Given the description of an element on the screen output the (x, y) to click on. 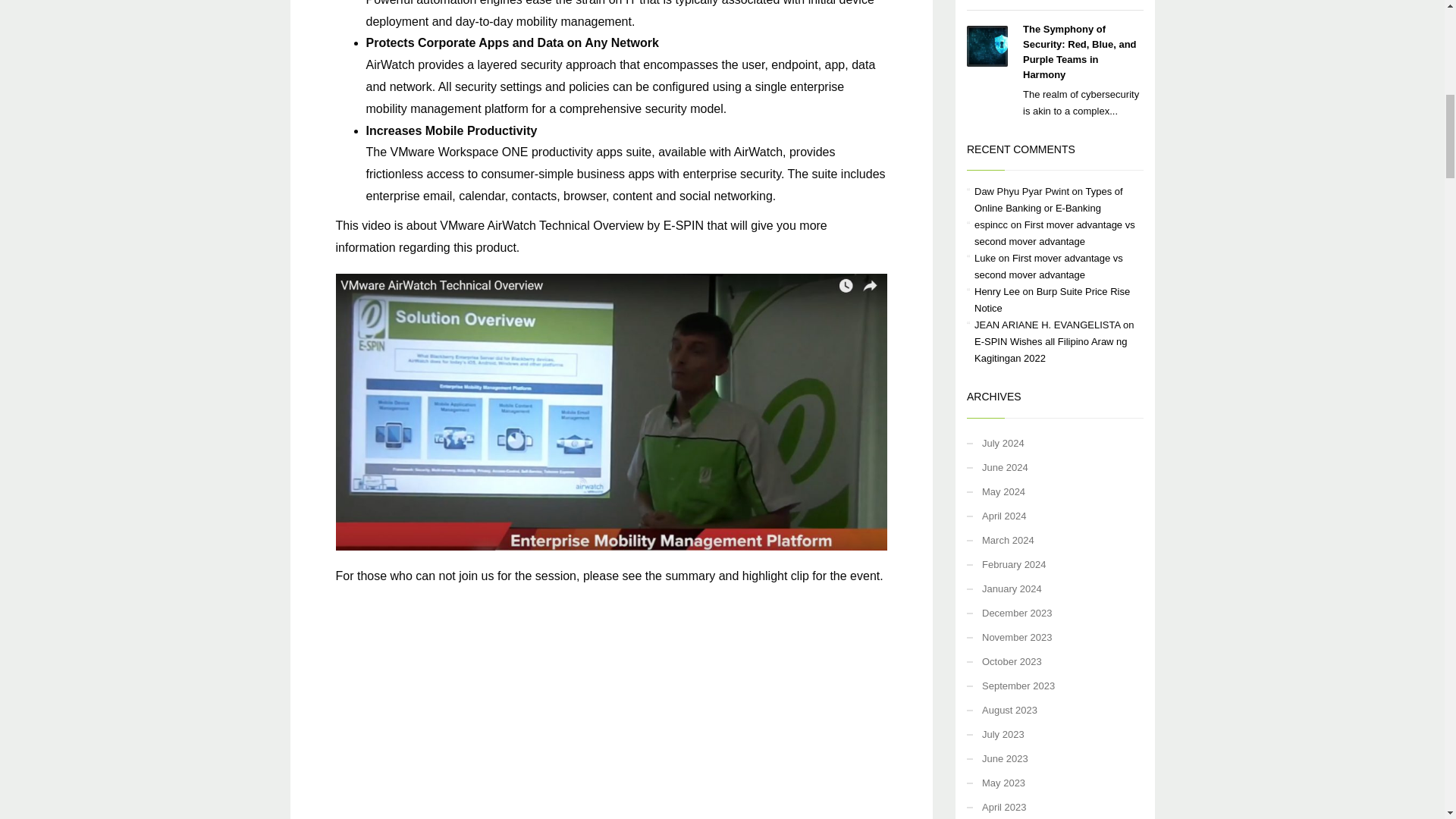
VMware AirWatch Technical Overview (610, 710)
